Given the description of an element on the screen output the (x, y) to click on. 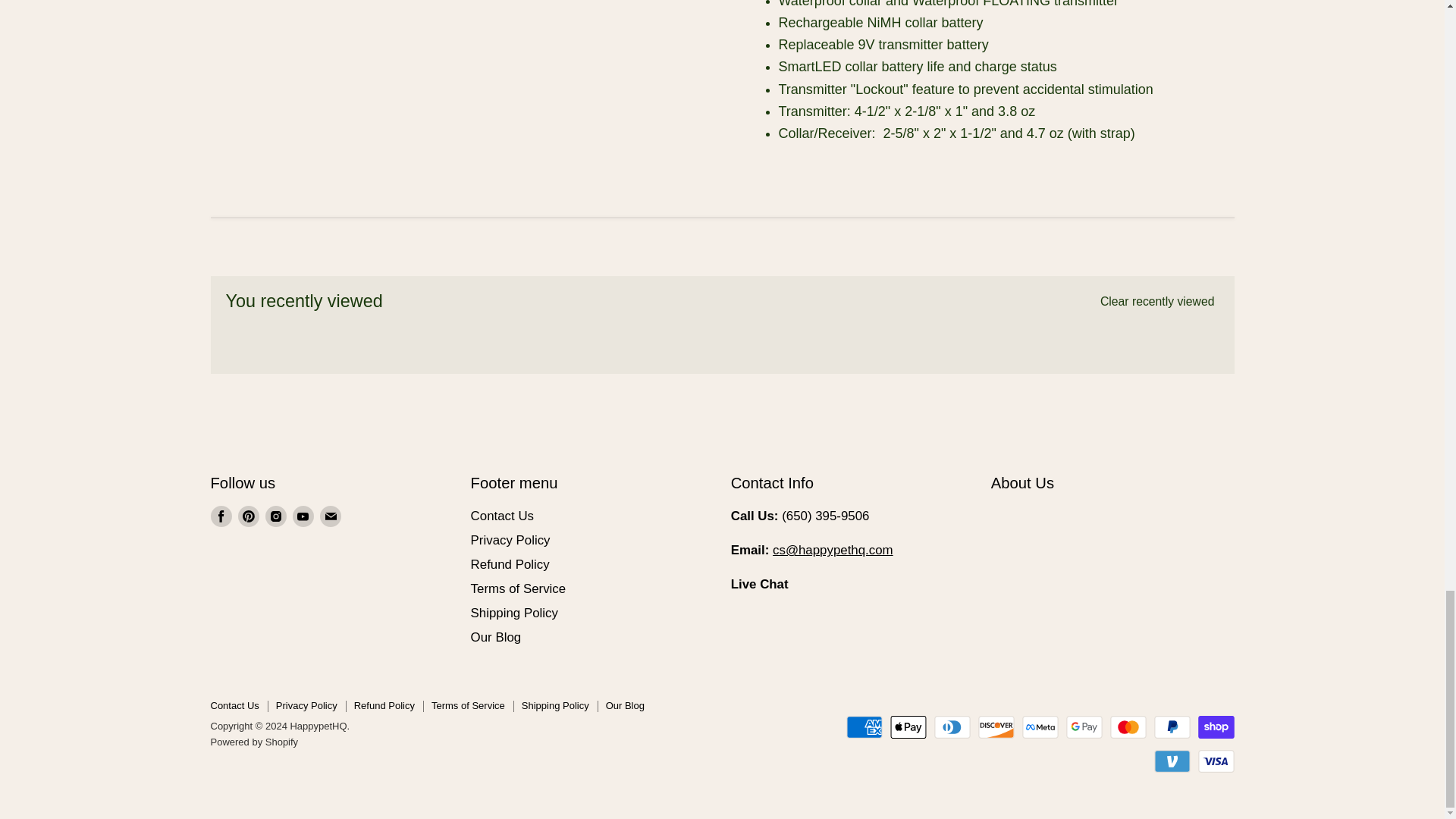
Google Pay (1083, 726)
Instagram (275, 516)
American Express (863, 726)
Diners Club (952, 726)
Pinterest (248, 516)
Find us on Youtube (303, 516)
E-mail (330, 516)
Discover (996, 726)
Find us on Pinterest (248, 516)
Apple Pay (907, 726)
Facebook (221, 516)
Find us on Facebook (221, 516)
Meta Pay (1040, 726)
Find us on Instagram (275, 516)
Youtube (303, 516)
